Given the description of an element on the screen output the (x, y) to click on. 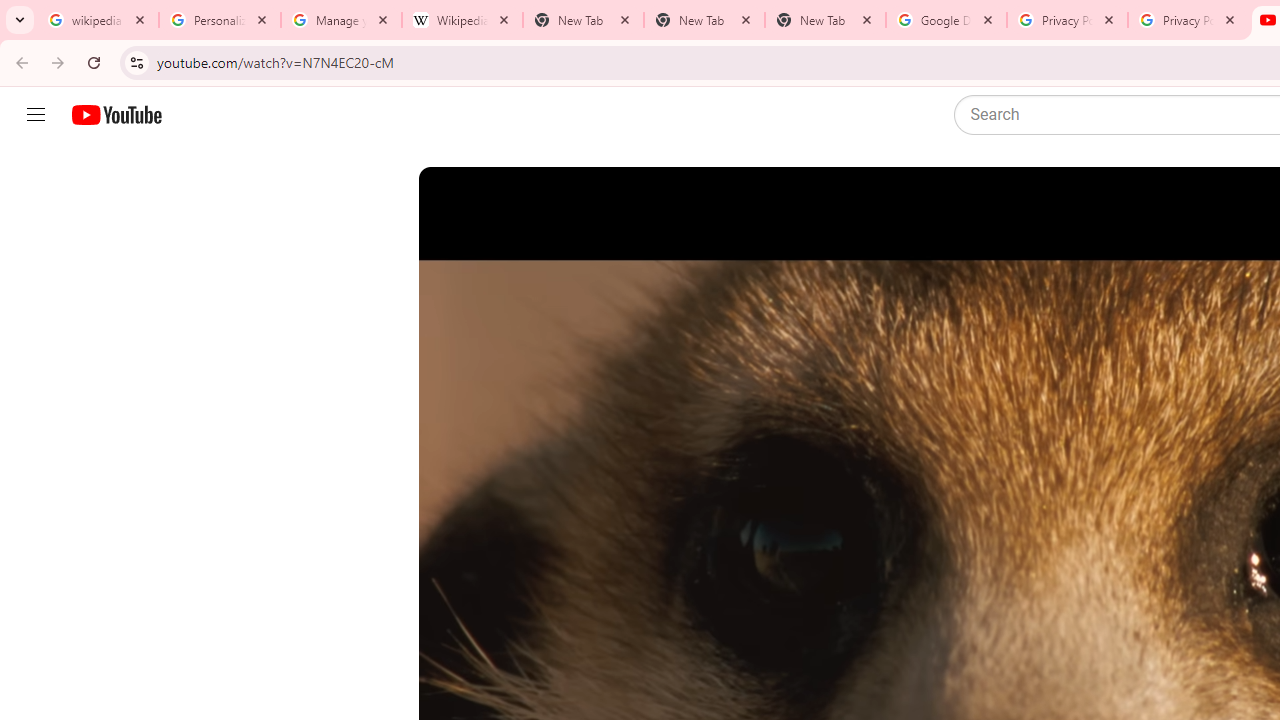
New Tab (825, 20)
YouTube Home (116, 115)
Personalization & Google Search results - Google Search Help (219, 20)
New Tab (704, 20)
Guide (35, 115)
Manage your Location History - Google Search Help (340, 20)
